Given the description of an element on the screen output the (x, y) to click on. 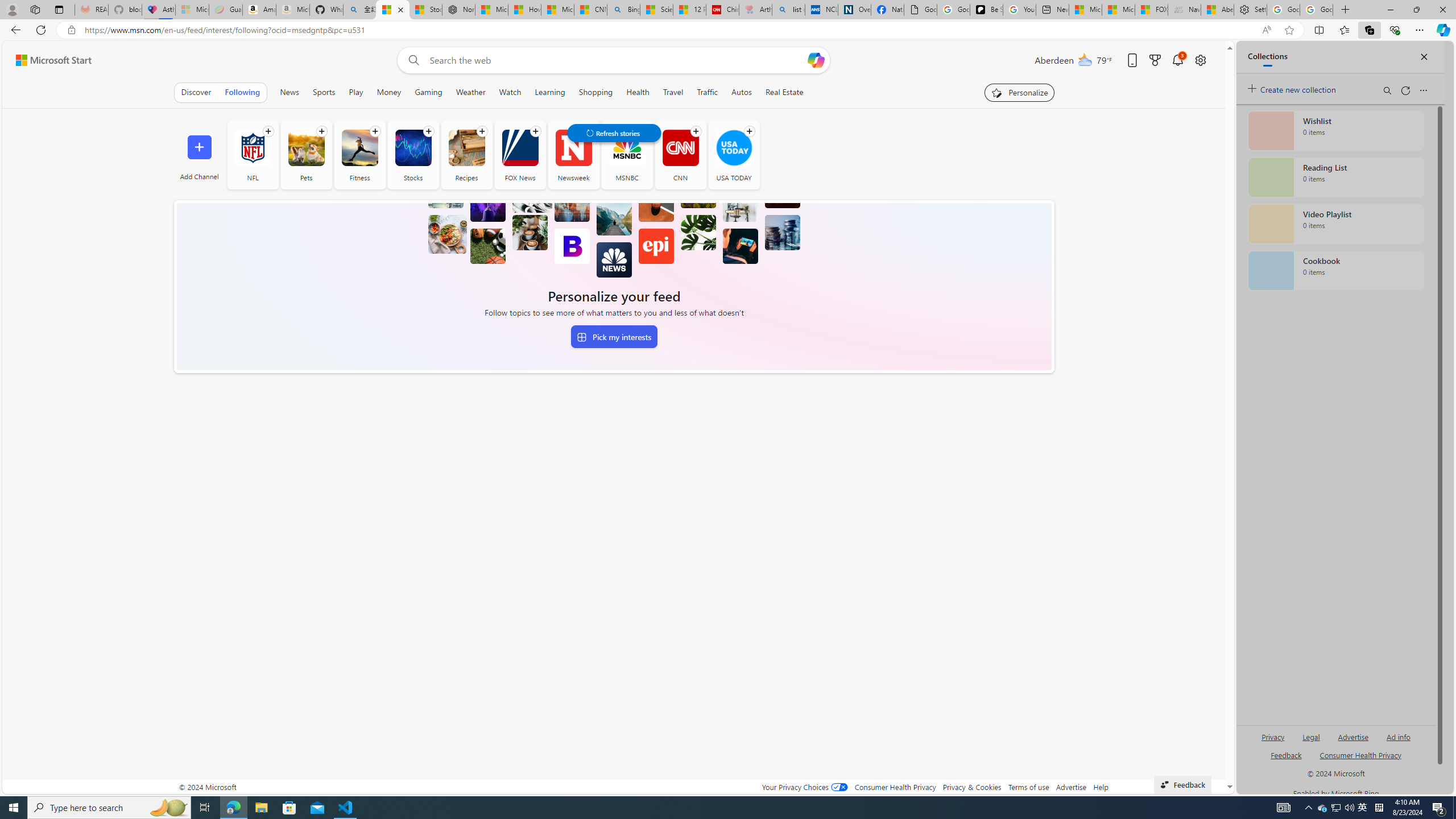
Weather (470, 92)
Consumer Health Privacy (895, 786)
Shopping (595, 92)
Nordace - Nordace Siena Is Not An Ordinary Backpack (458, 9)
12 Popular Science Lies that Must be Corrected (689, 9)
Health (637, 92)
Personalize your feed" (1019, 92)
USA TODAY (733, 155)
